Given the description of an element on the screen output the (x, y) to click on. 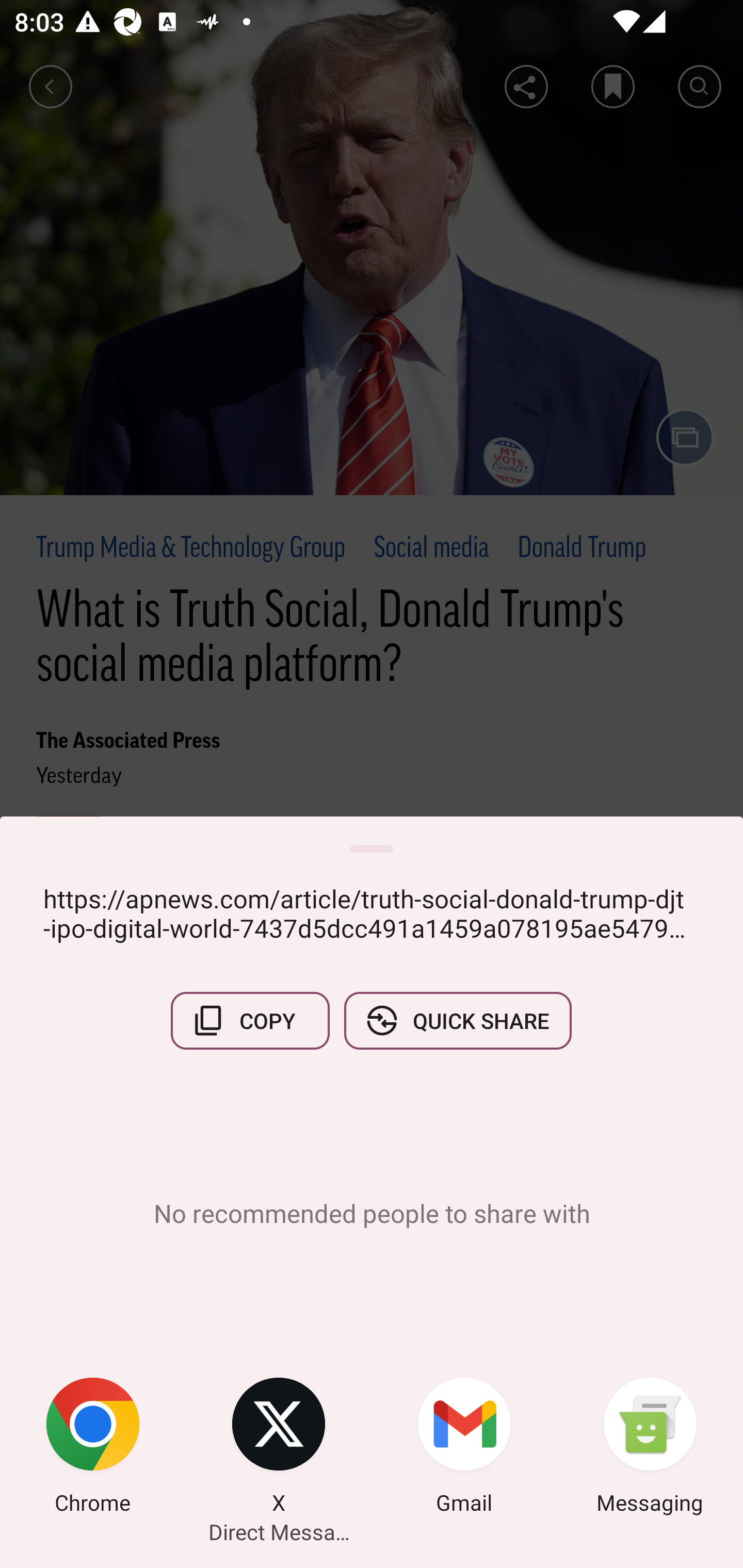
COPY (249, 1020)
QUICK SHARE (457, 1020)
Chrome (92, 1448)
X Direct Message (278, 1448)
Gmail (464, 1448)
Messaging (650, 1448)
